Given the description of an element on the screen output the (x, y) to click on. 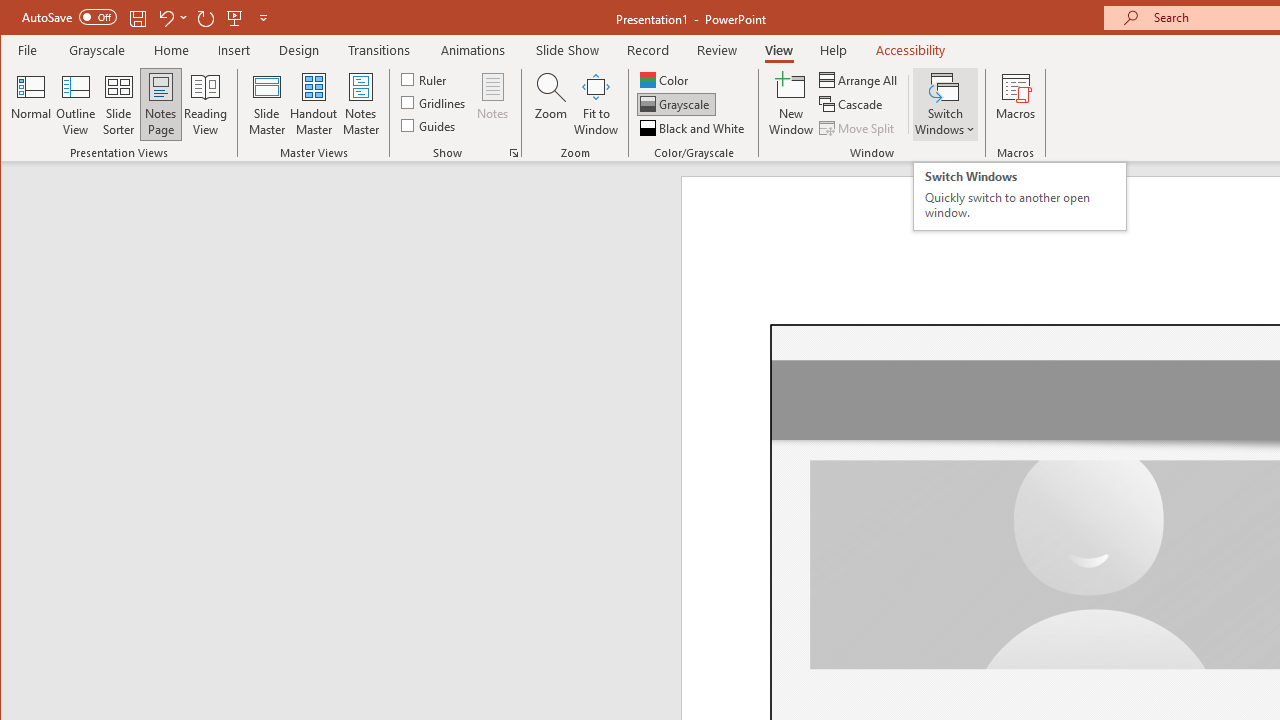
Arrange All (859, 80)
Zoom... (1019, 196)
Move Split (550, 104)
Slide Master (858, 127)
Switch Windows (266, 104)
Notes (944, 104)
Handout Master (493, 104)
Ruler (314, 104)
